Given the description of an element on the screen output the (x, y) to click on. 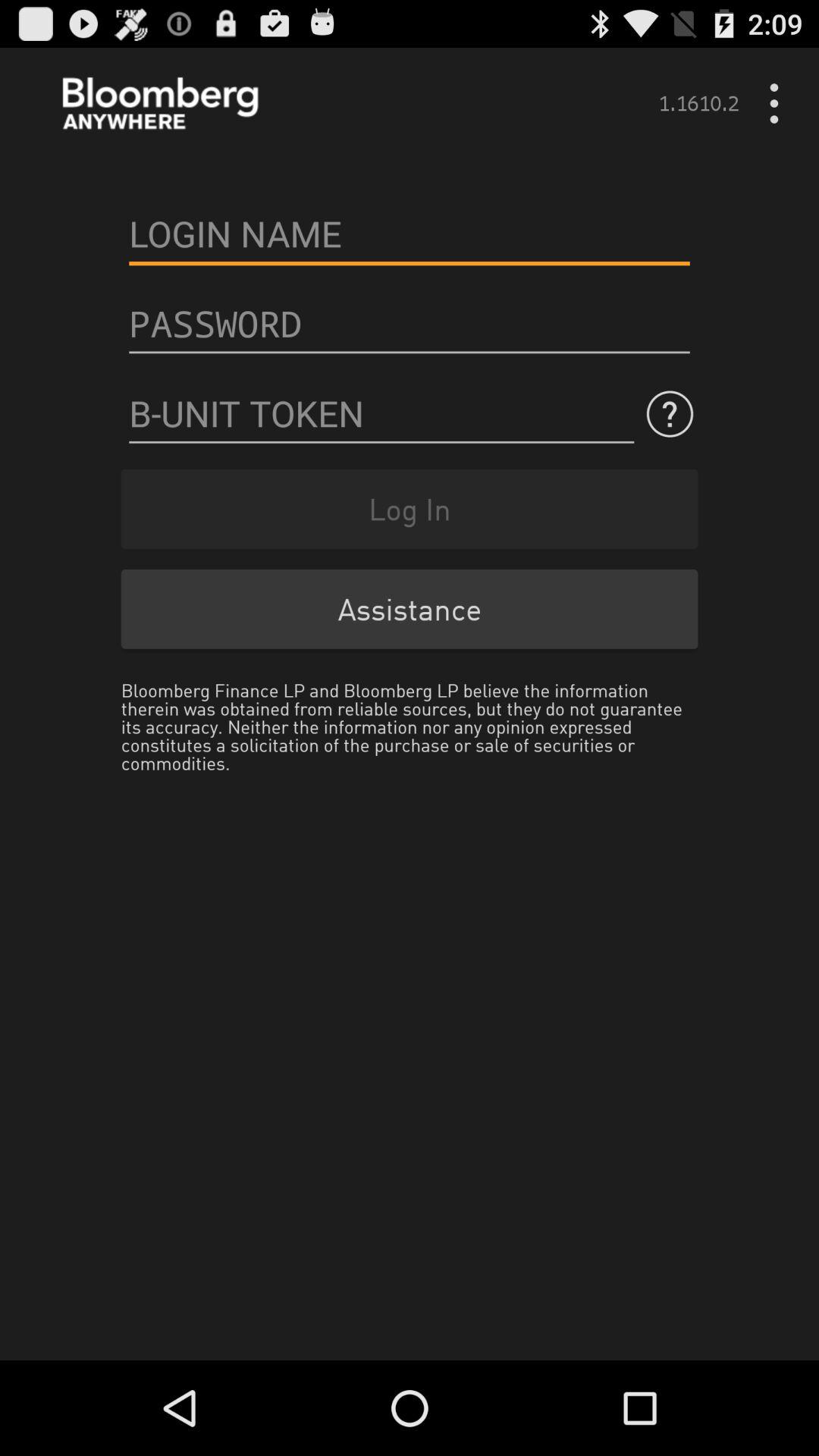
enter login name (409, 234)
